Given the description of an element on the screen output the (x, y) to click on. 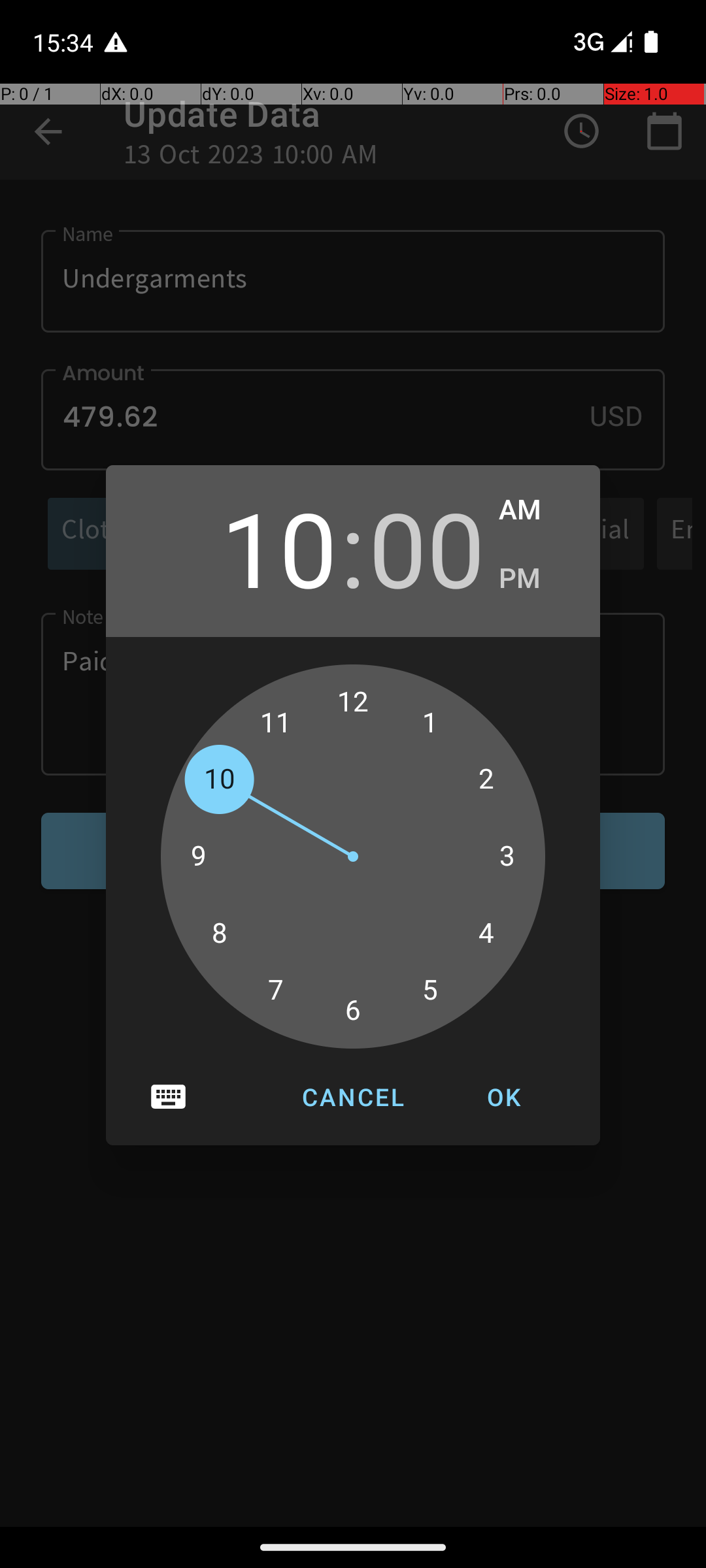
11 Element type: android.widget.RadialTimePickerView$RadialPickerTouchHelper (275, 722)
12 Element type: android.widget.RadialTimePickerView$RadialPickerTouchHelper (352, 701)
CANCEL Element type: android.widget.Button (352, 1096)
AM Element type: android.widget.RadioButton (535, 510)
PM Element type: android.widget.RadioButton (535, 578)
